Given the description of an element on the screen output the (x, y) to click on. 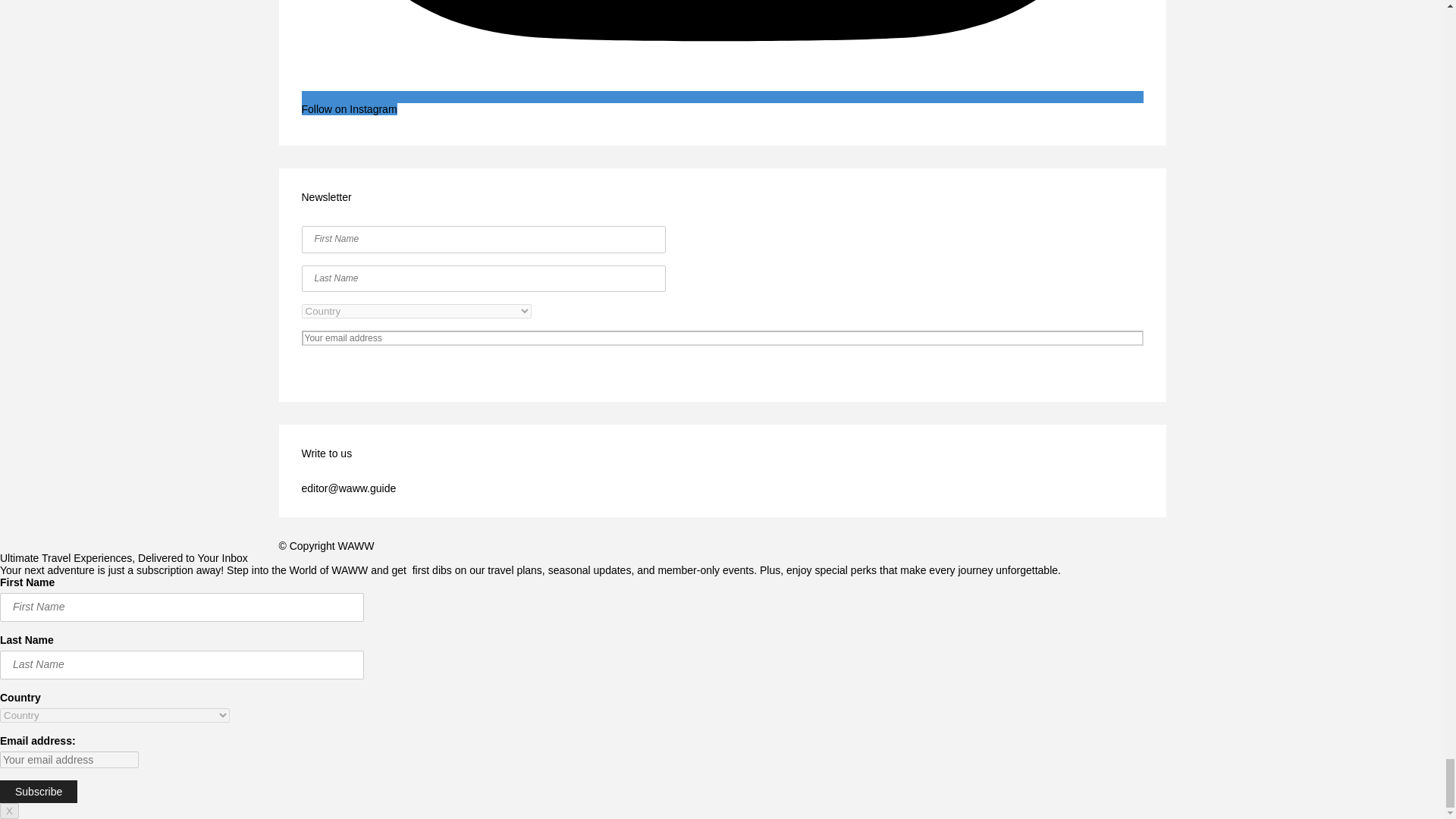
Subscribe (721, 368)
Subscribe (38, 791)
